Given the description of an element on the screen output the (x, y) to click on. 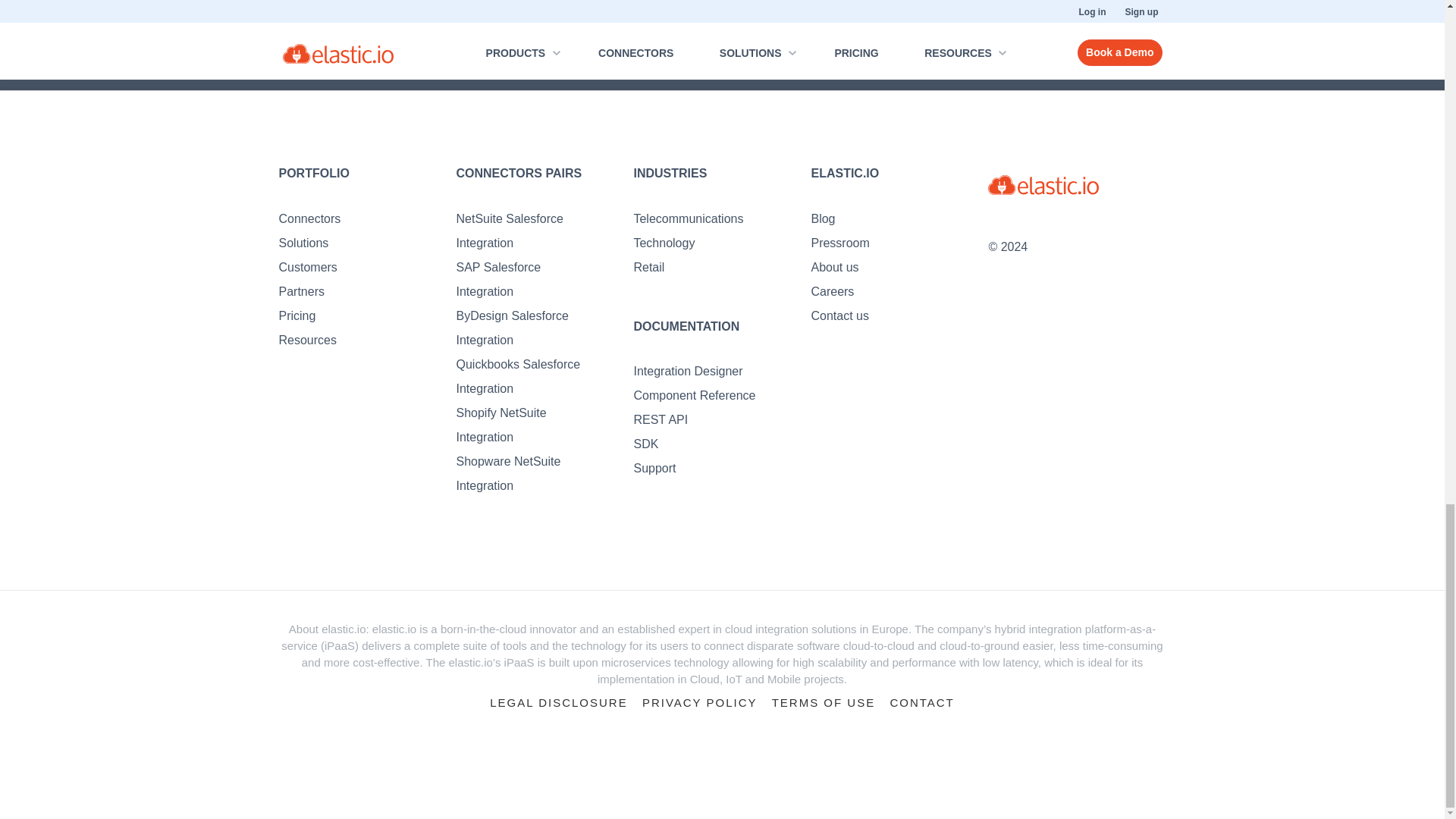
Shopify NetSuite integration (500, 424)
Shopware NetSuite Integration (507, 473)
iPaaS for Retail (648, 267)
Netsuite integration with Salesforce (508, 230)
Integrate SAP with Salesforce (497, 279)
iPaaS for Telecommunications (687, 218)
Pricing (297, 315)
Pressroom (839, 242)
Careers (831, 291)
Partners (301, 291)
Resources (307, 339)
SAP ByDesign Salesforce integration (512, 327)
Solutions (304, 242)
Connectors (309, 218)
About us (834, 267)
